Given the description of an element on the screen output the (x, y) to click on. 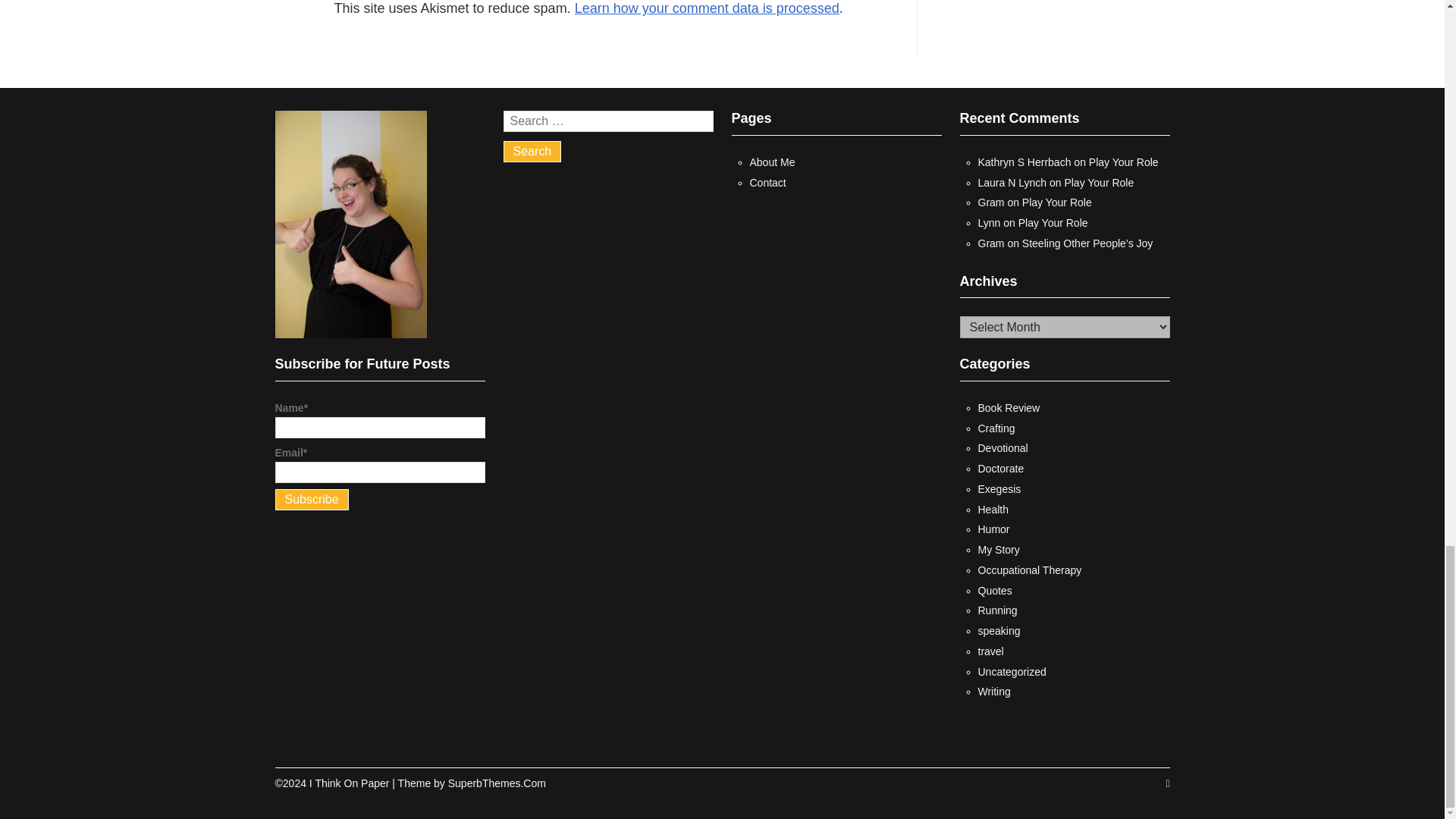
Play Your Role (1123, 162)
Search (532, 151)
Play Your Role (1099, 182)
Learn how your comment data is processed (707, 7)
Subscribe (311, 499)
Contact (767, 182)
Search (532, 151)
Subscribe (311, 499)
Search (532, 151)
About Me (771, 162)
